Given the description of an element on the screen output the (x, y) to click on. 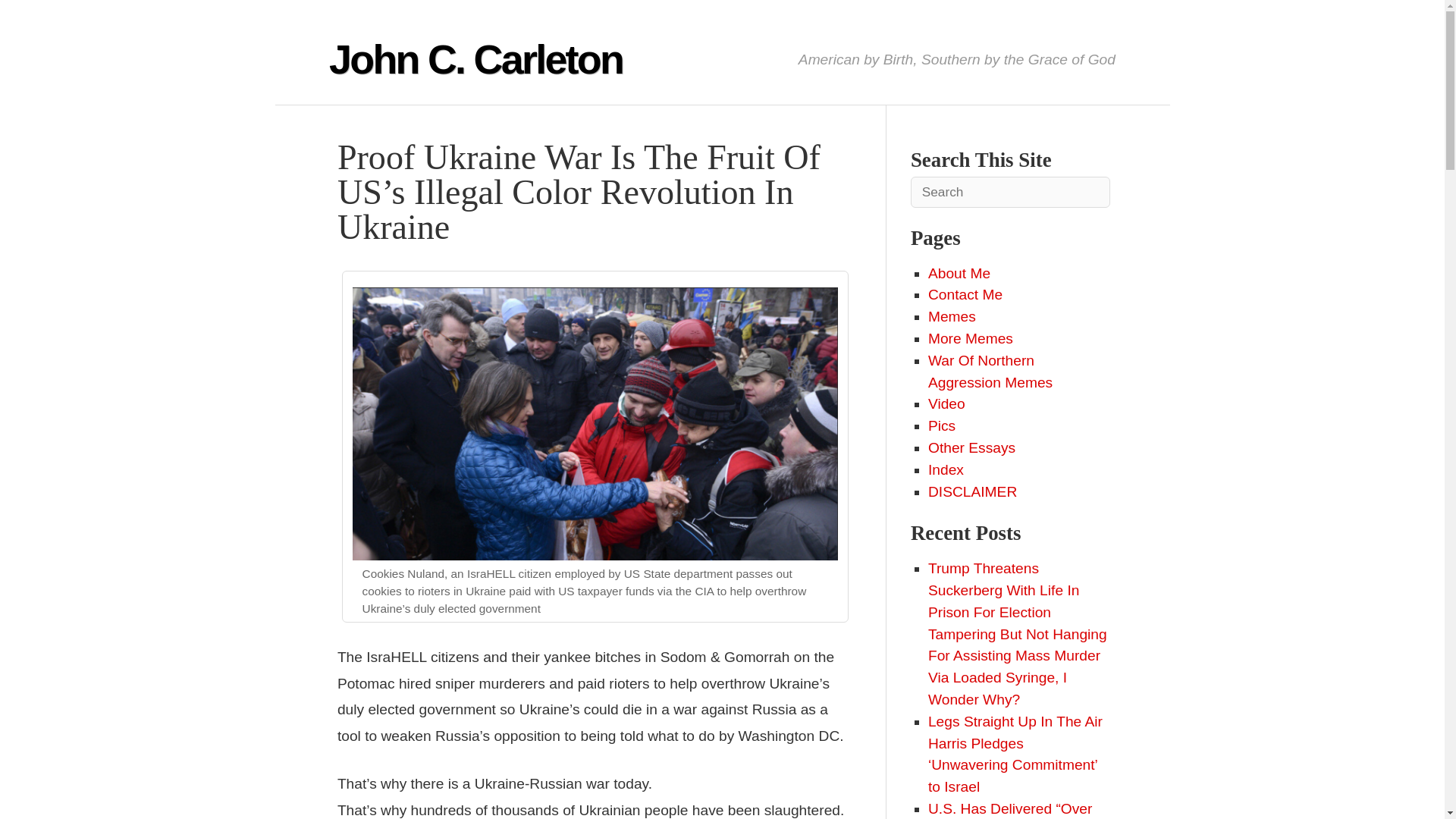
John C. Carleton (476, 58)
Video (946, 403)
More Memes (970, 338)
DISCLAIMER (972, 491)
John C. Carleton (476, 58)
Other Essays (971, 447)
Memes (951, 316)
Pics (941, 425)
Index (945, 469)
